Given the description of an element on the screen output the (x, y) to click on. 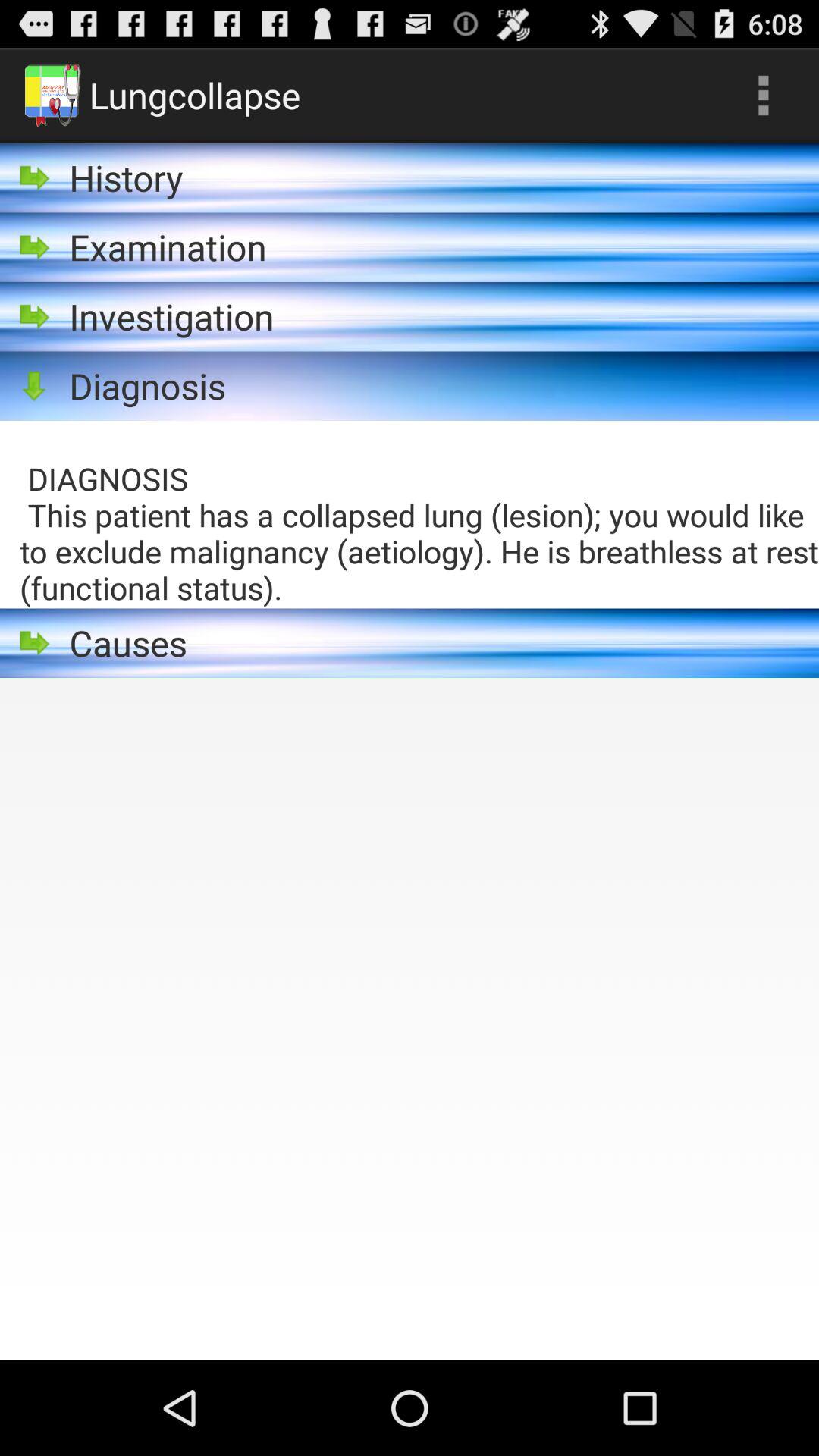
open the icon at the top right corner (763, 95)
